Given the description of an element on the screen output the (x, y) to click on. 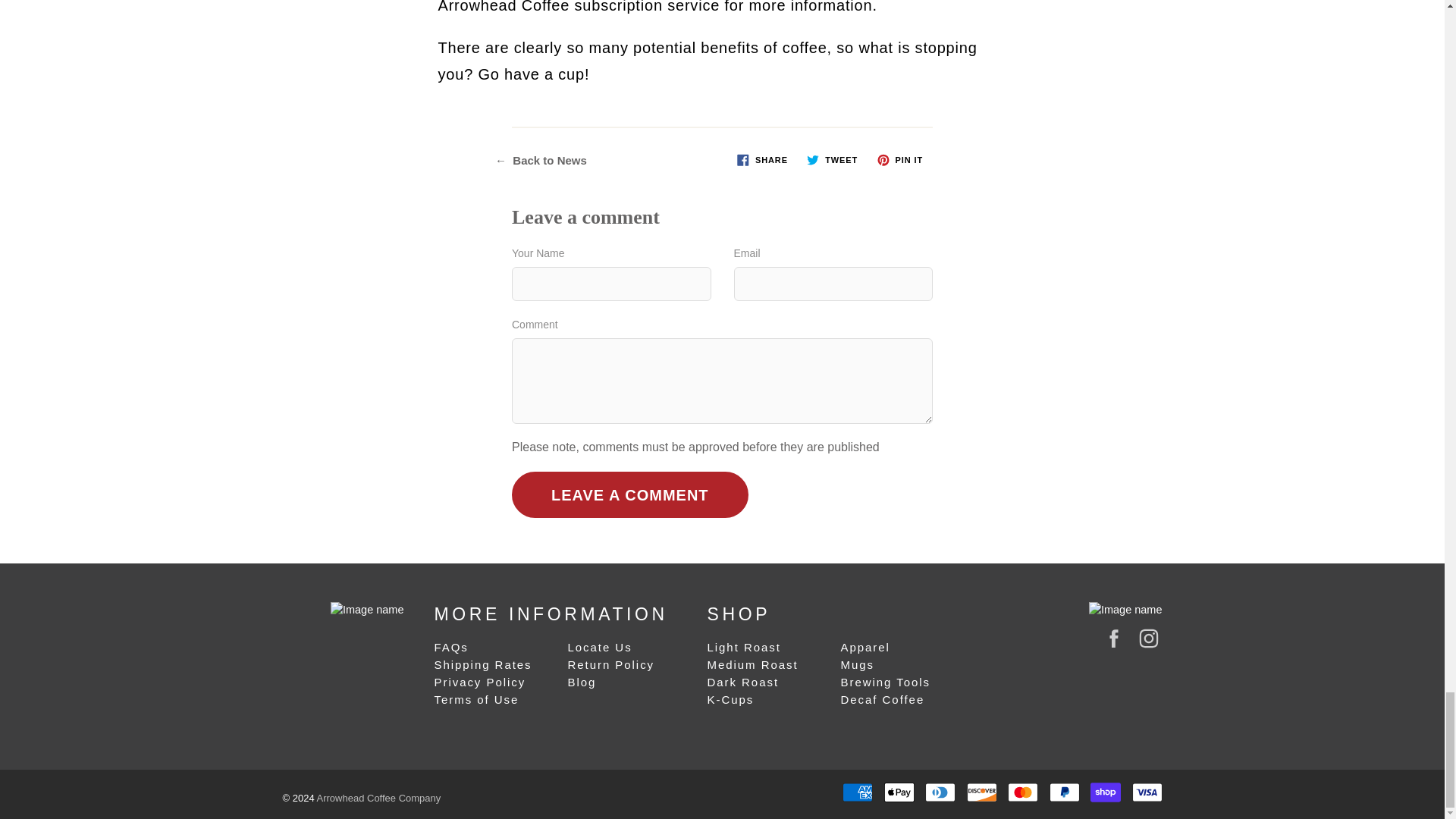
Facebook (1113, 638)
Instagram (1148, 638)
Visa (1146, 792)
Share on Facebook (761, 159)
Discover (981, 792)
Tweet on Twitter (831, 159)
Shop Pay (1105, 792)
Apple Pay (898, 792)
American Express (857, 792)
Mastercard (1022, 792)
